Given the description of an element on the screen output the (x, y) to click on. 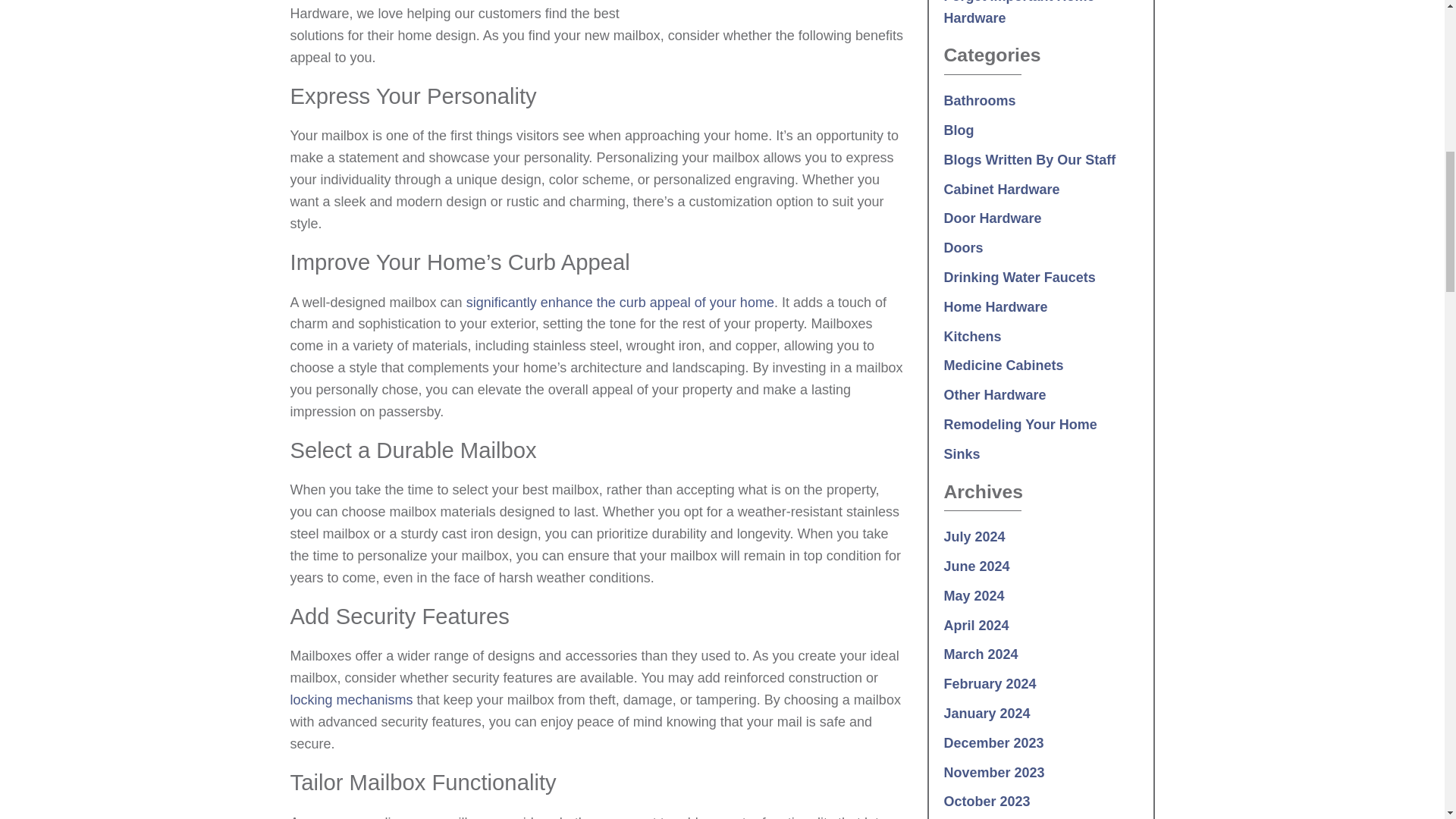
locking mechanisms (350, 699)
significantly enhance the curb appeal of your home (619, 302)
